Given the description of an element on the screen output the (x, y) to click on. 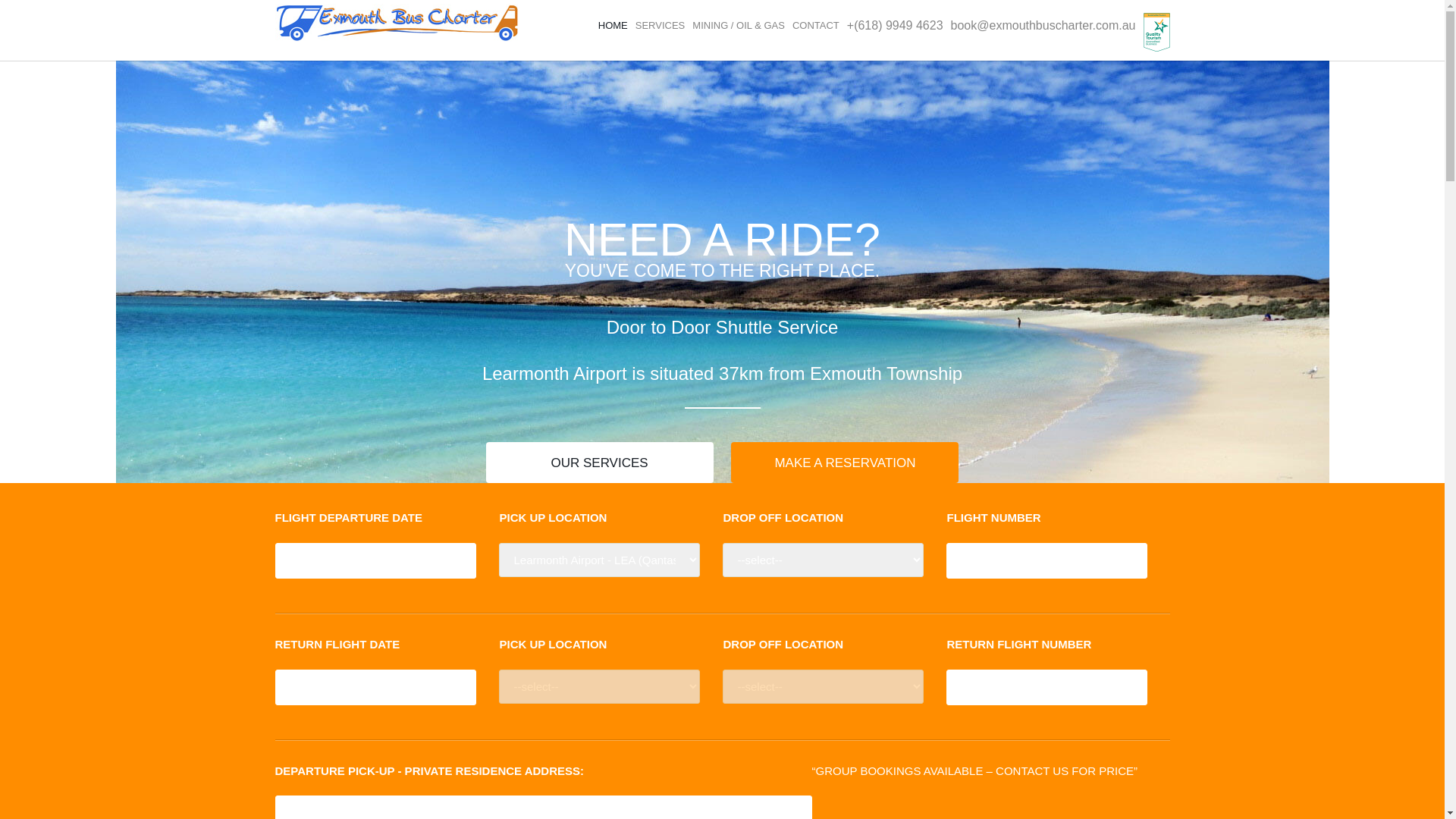
OUR SERVICES Element type: text (599, 462)
SERVICES Element type: text (660, 25)
+(618) 9949 4623 Element type: text (895, 24)
Exmouth Bus Charter Element type: hover (396, 21)
HOME Element type: text (612, 25)
MINING / OIL & GAS Element type: text (738, 25)
CONTACT Element type: text (815, 25)
book@exmouthbuscharter.com.au Element type: text (1042, 24)
MAKE A RESERVATION Element type: text (844, 462)
